Given the description of an element on the screen output the (x, y) to click on. 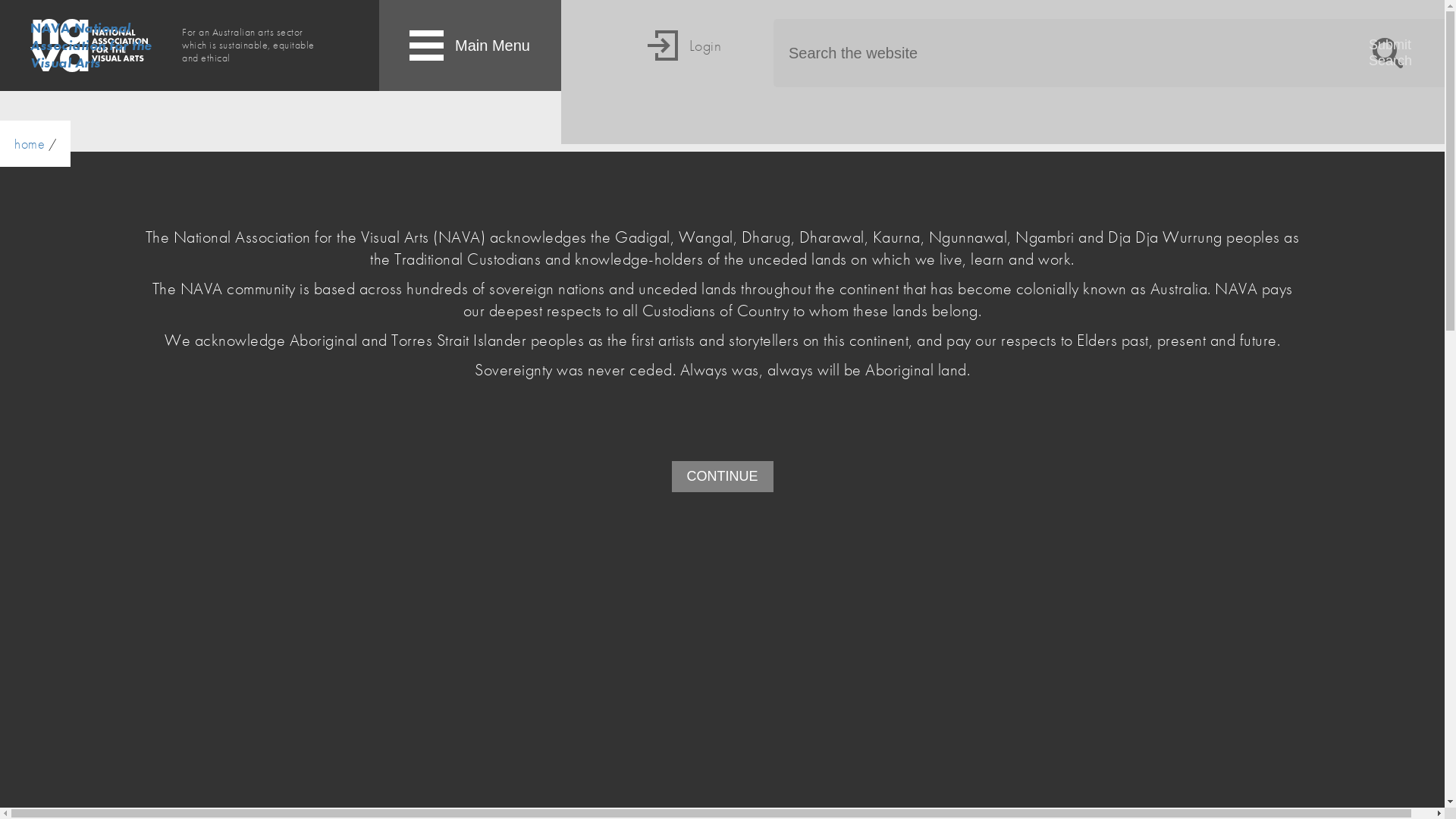
CONTINUE Element type: text (722, 476)
home Element type: text (29, 143)
Login Element type: text (682, 72)
Main Menu Element type: text (470, 45)
Submit Search Element type: text (1387, 53)
